Given the description of an element on the screen output the (x, y) to click on. 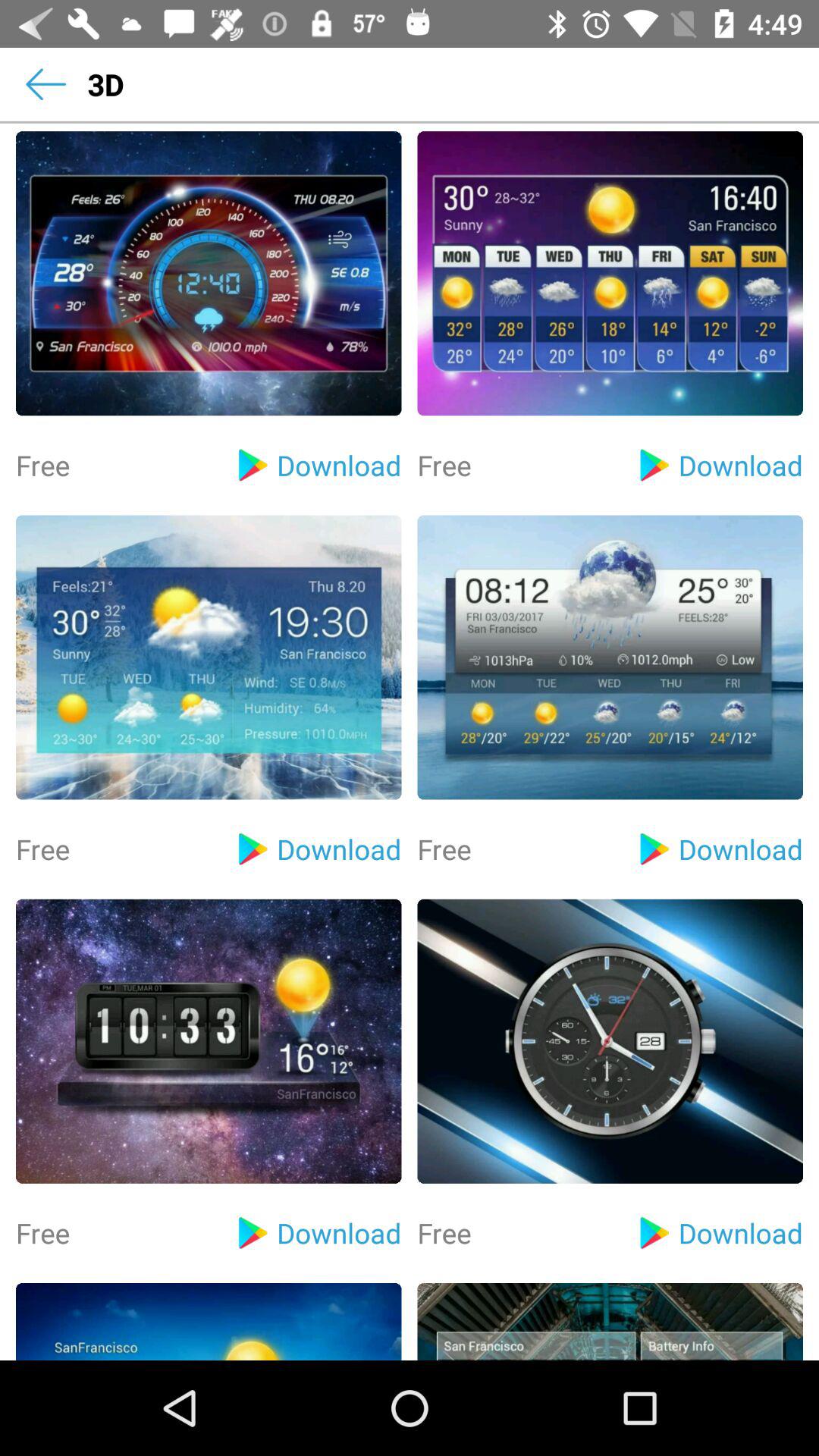
launch item to the left of the 3d item (45, 84)
